Given the description of an element on the screen output the (x, y) to click on. 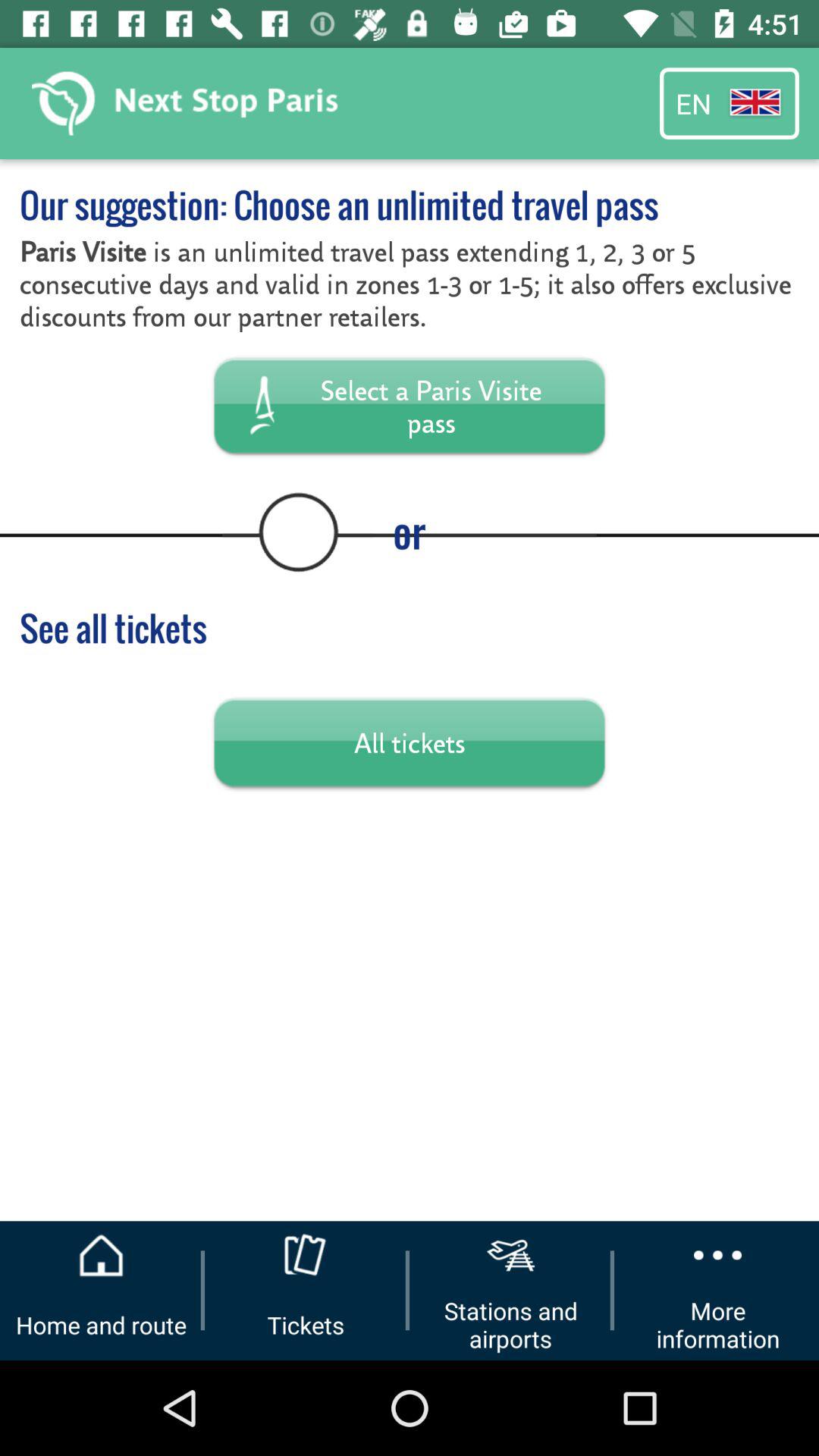
press the select a paris (409, 405)
